Given the description of an element on the screen output the (x, y) to click on. 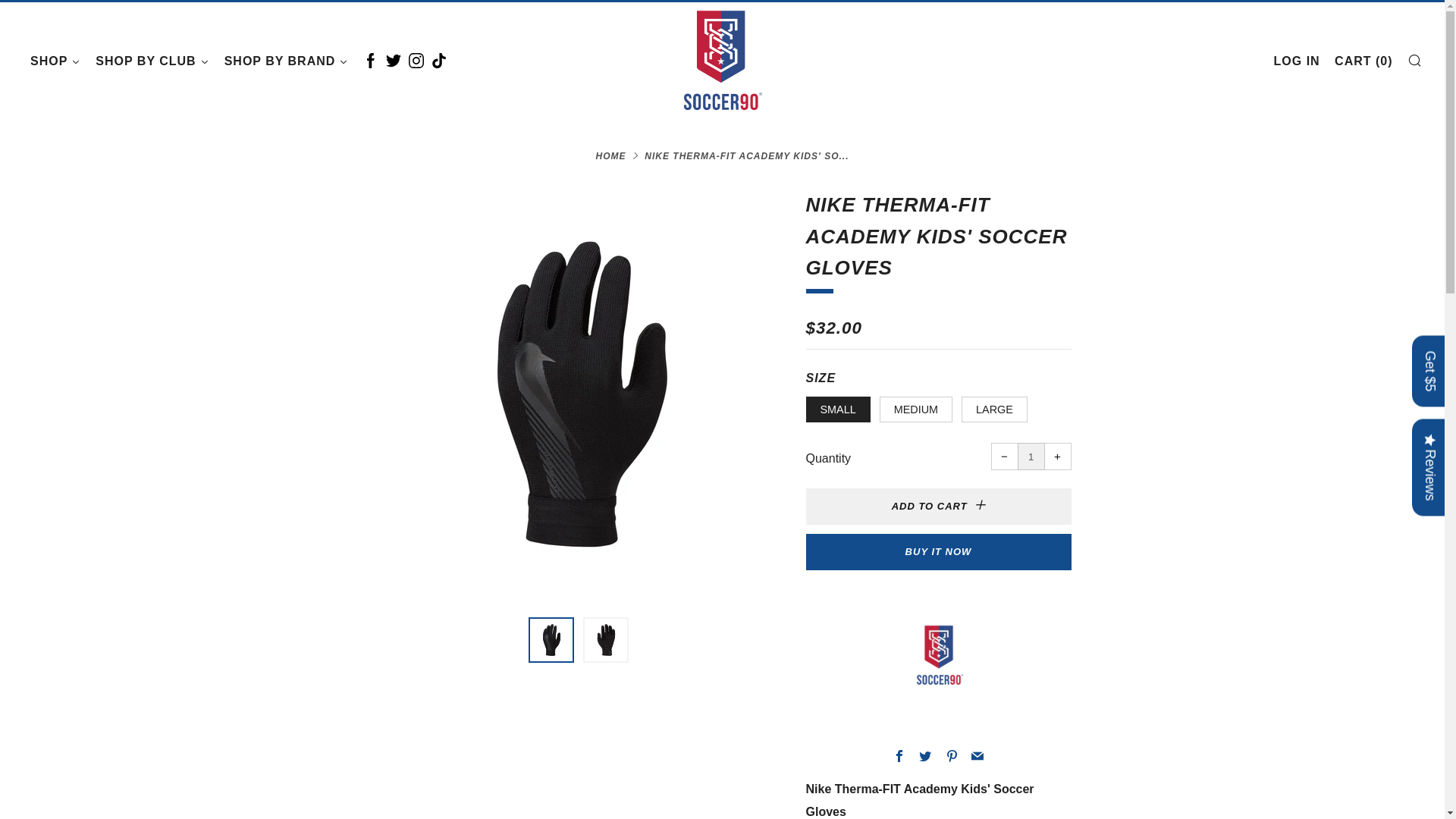
Home (610, 155)
Shop by Brand (286, 61)
Shop by Club (151, 61)
Shop (55, 61)
1 (1031, 456)
